Given the description of an element on the screen output the (x, y) to click on. 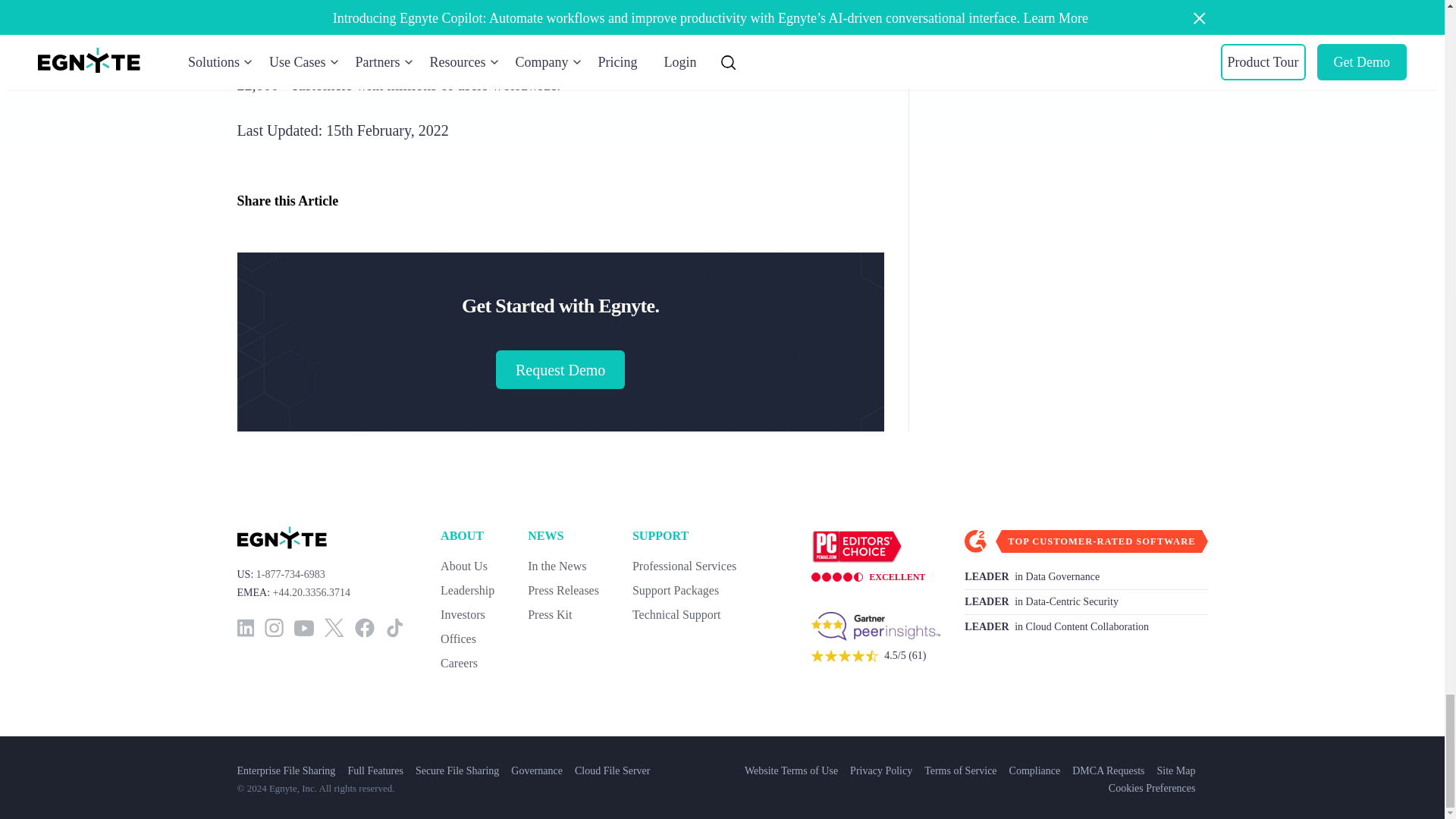
Share to Facebook (419, 200)
Share to X (389, 200)
Share to Linkedin (359, 200)
